Given the description of an element on the screen output the (x, y) to click on. 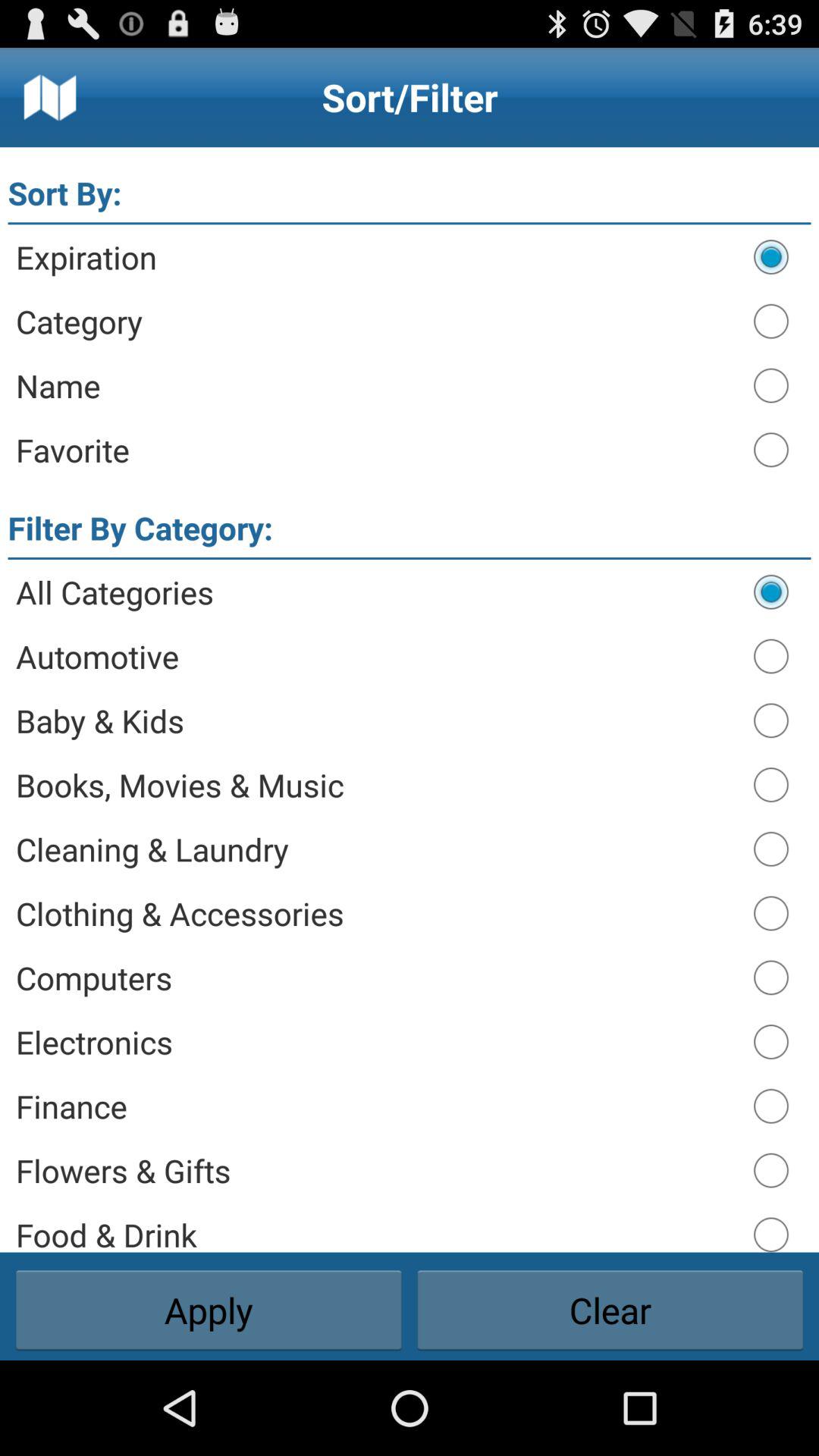
tap the app above the expiration (409, 223)
